Given the description of an element on the screen output the (x, y) to click on. 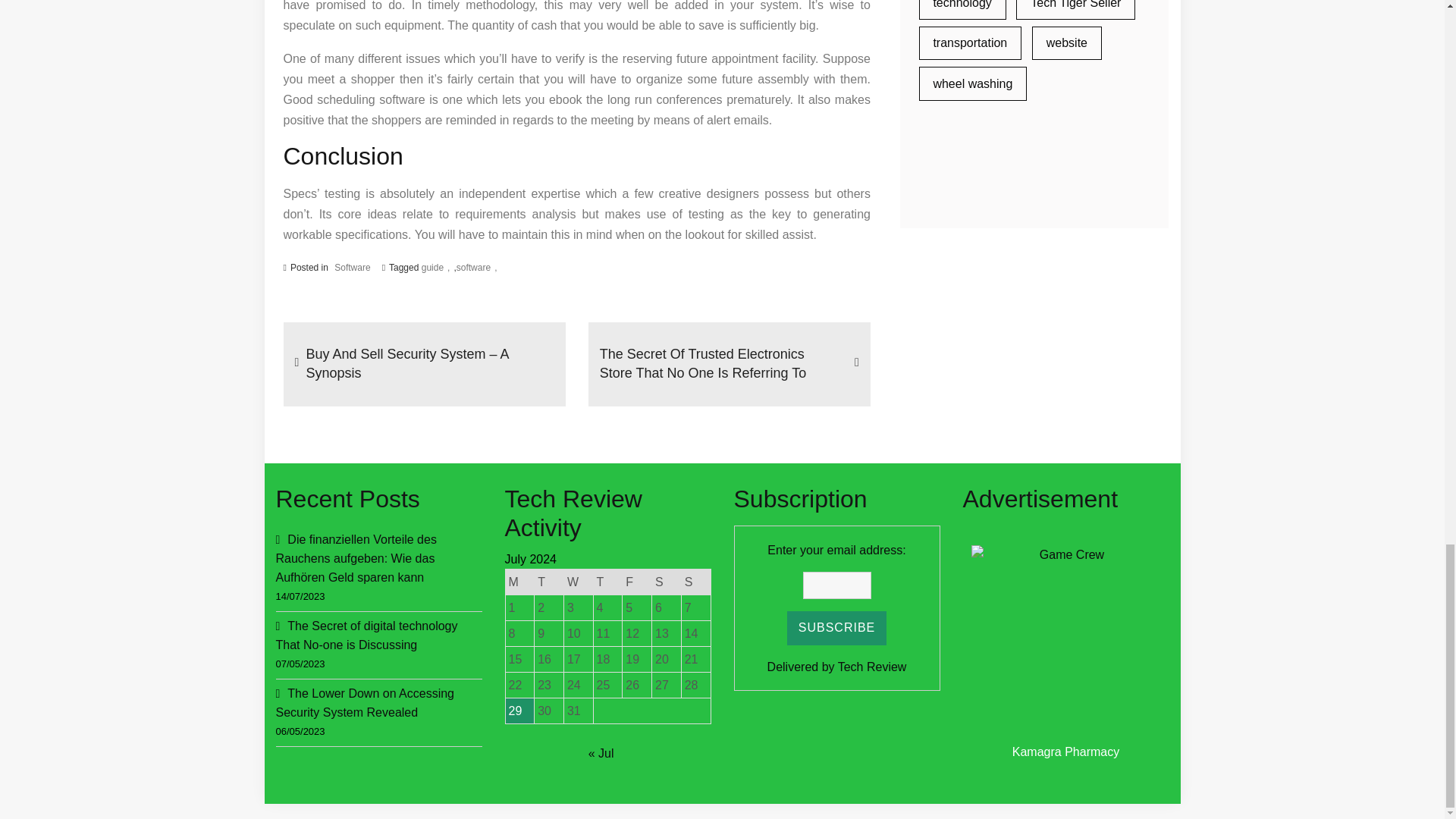
Saturday (666, 582)
Sunday (695, 582)
Friday (637, 582)
Wednesday (577, 582)
guide (435, 267)
Monday (519, 582)
Game Crew (1065, 639)
Subscribe (836, 627)
Tuesday (549, 582)
software (477, 267)
Software (351, 267)
Thursday (607, 582)
